Given the description of an element on the screen output the (x, y) to click on. 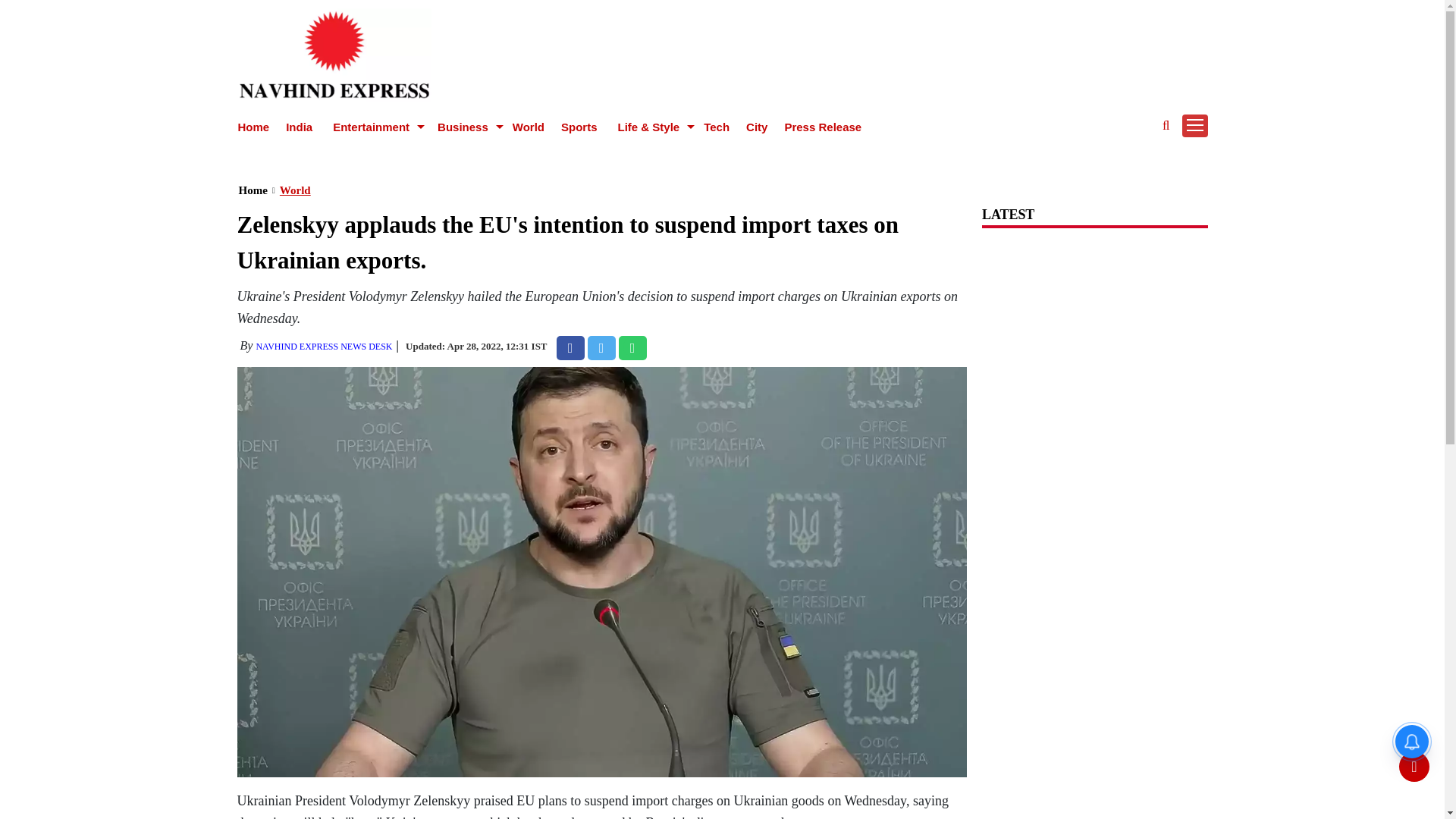
Tech (716, 126)
India (299, 126)
Entertainment (372, 126)
3rd party ad content (721, 153)
Press Release (822, 126)
Business (464, 126)
World (528, 126)
Sports (578, 126)
Home (253, 126)
City (756, 126)
